Given the description of an element on the screen output the (x, y) to click on. 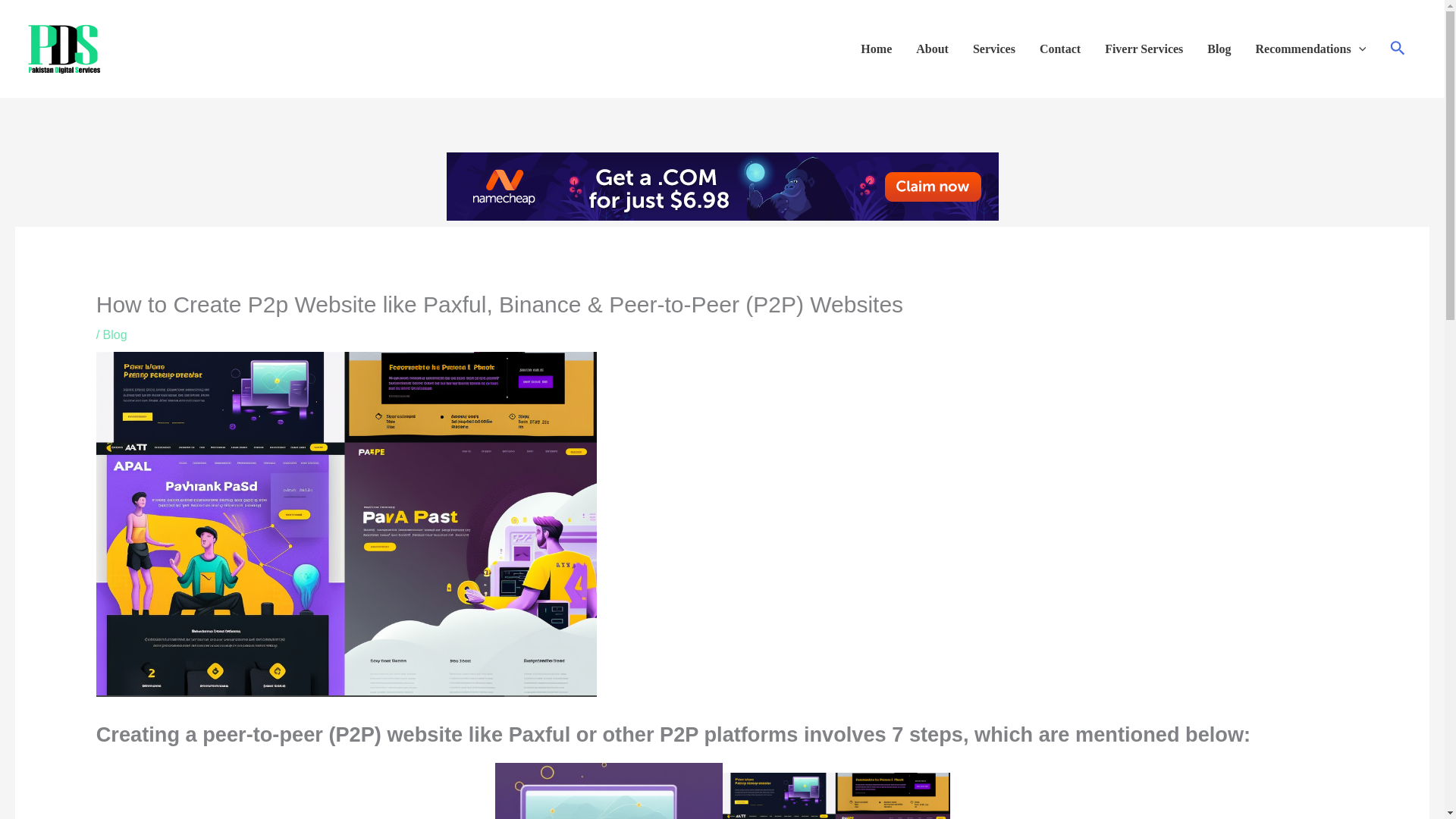
Contact (1060, 47)
Home (876, 47)
Services (993, 47)
Recommendations (1310, 47)
Blog (115, 334)
Blog (1219, 47)
About (932, 47)
Fiverr Services (1144, 47)
